Given the description of an element on the screen output the (x, y) to click on. 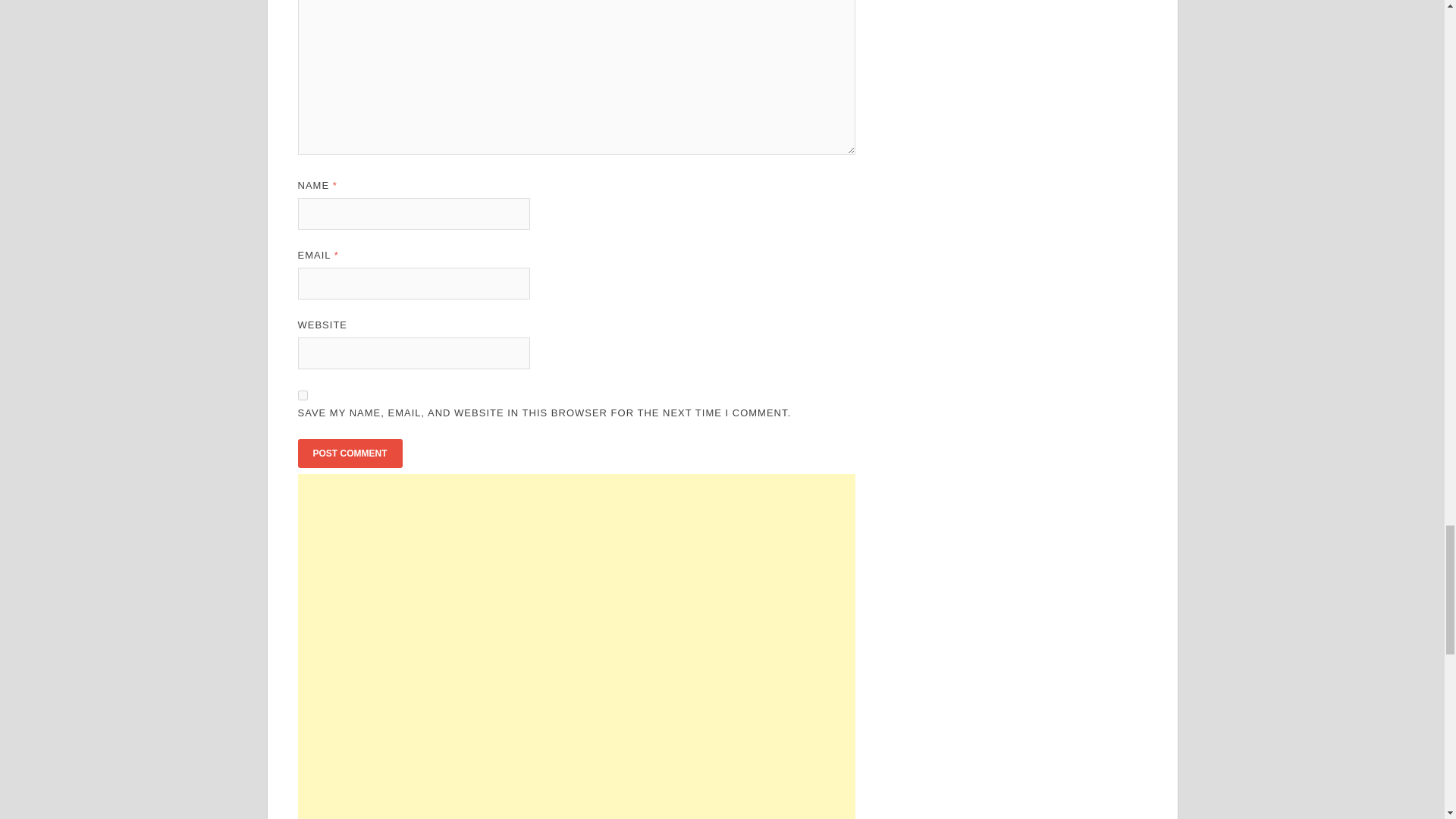
Post Comment (349, 452)
Post Comment (349, 452)
yes (302, 395)
